Given the description of an element on the screen output the (x, y) to click on. 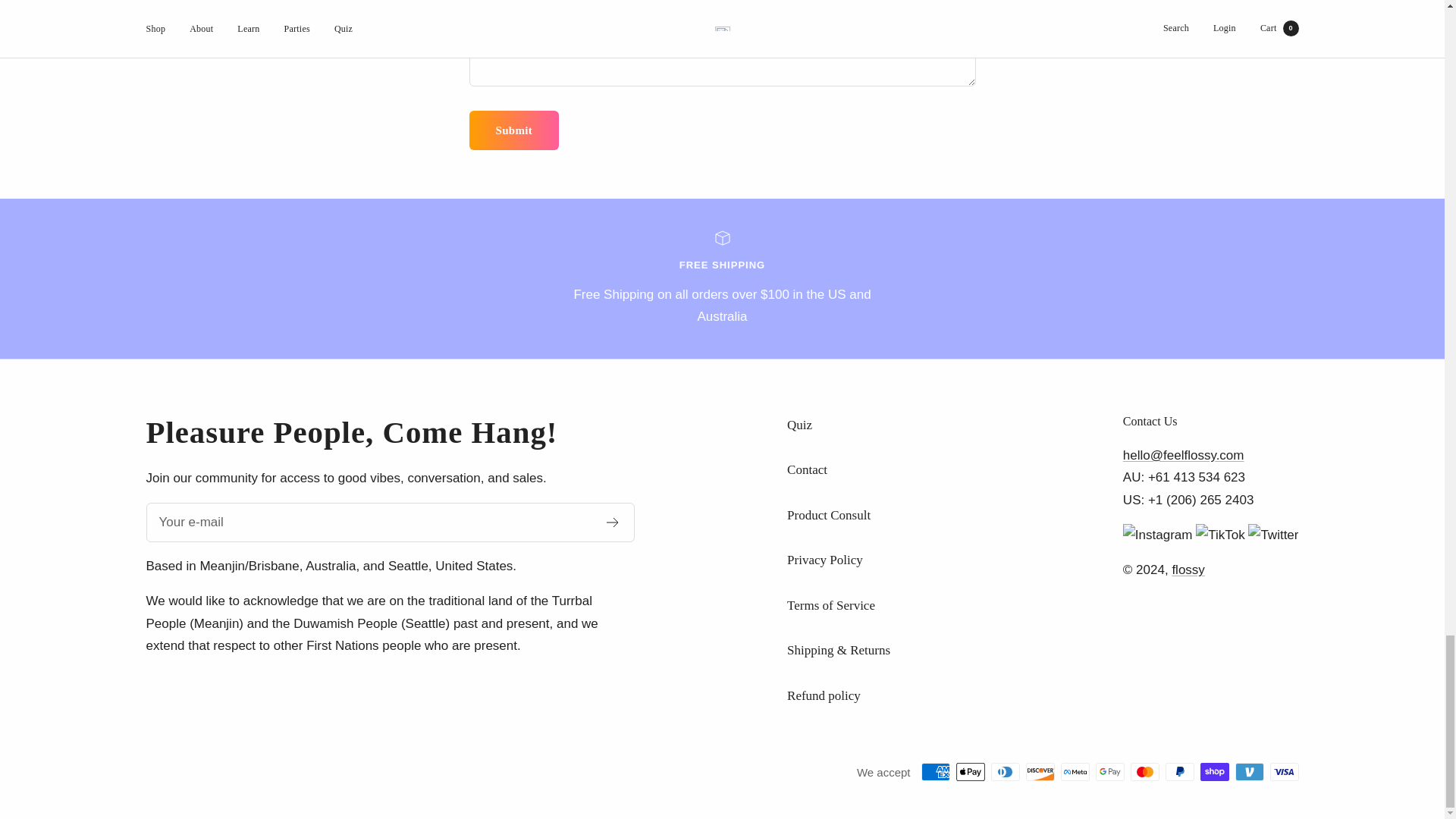
Register (613, 521)
